Given the description of an element on the screen output the (x, y) to click on. 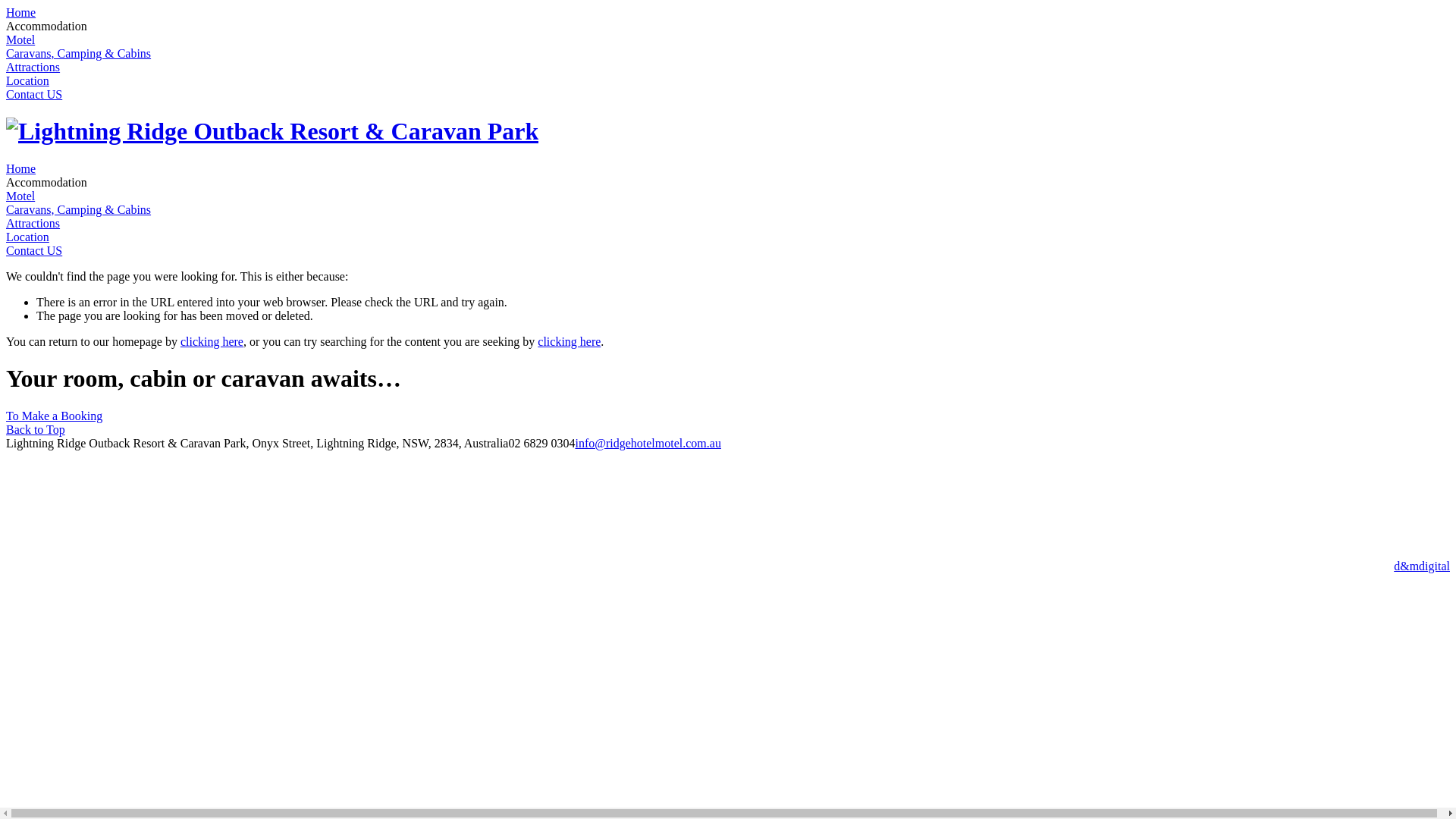
info@ridgehotelmotel.com.au Element type: text (647, 442)
Location Element type: text (27, 80)
Location Element type: text (27, 236)
clicking here Element type: text (568, 341)
Home Element type: text (20, 168)
Home Element type: text (20, 12)
Caravans, Camping & Cabins Element type: text (78, 53)
Motel Element type: text (20, 39)
Attractions Element type: text (32, 66)
clicking here Element type: text (211, 341)
Attractions Element type: text (32, 222)
Motel Element type: text (20, 195)
Back to Top Element type: text (35, 429)
To Make a Booking Element type: text (54, 415)
Caravans, Camping & Cabins Element type: text (78, 209)
Contact US Element type: text (34, 93)
d&mdigital Element type: text (1421, 565)
Contact US Element type: text (34, 250)
